Given the description of an element on the screen output the (x, y) to click on. 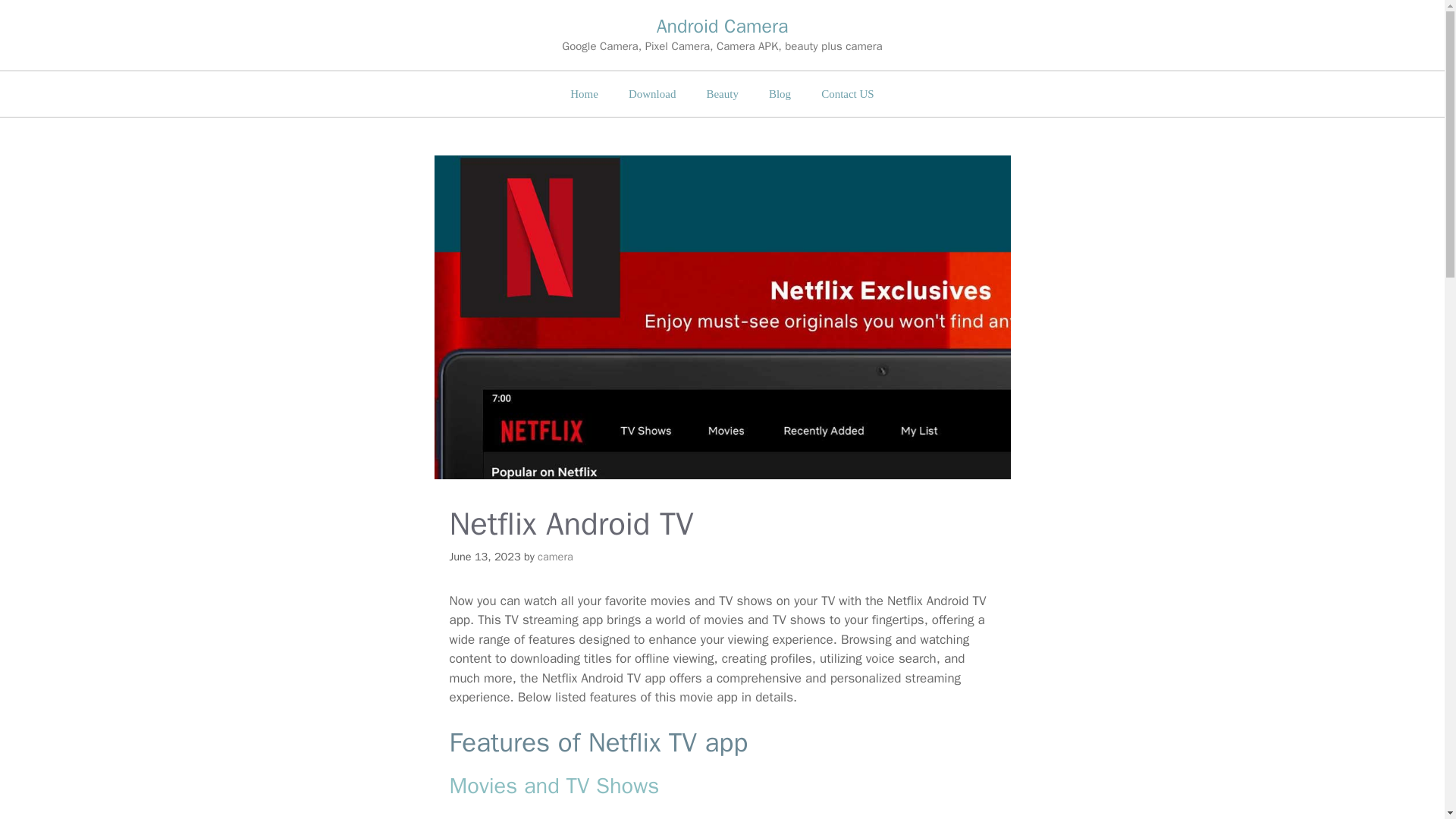
View all posts by camera (555, 556)
Beauty (722, 94)
Blog (780, 94)
Home (583, 94)
Contact US (847, 94)
Android Camera (722, 25)
Download (651, 94)
camera (555, 556)
